Given the description of an element on the screen output the (x, y) to click on. 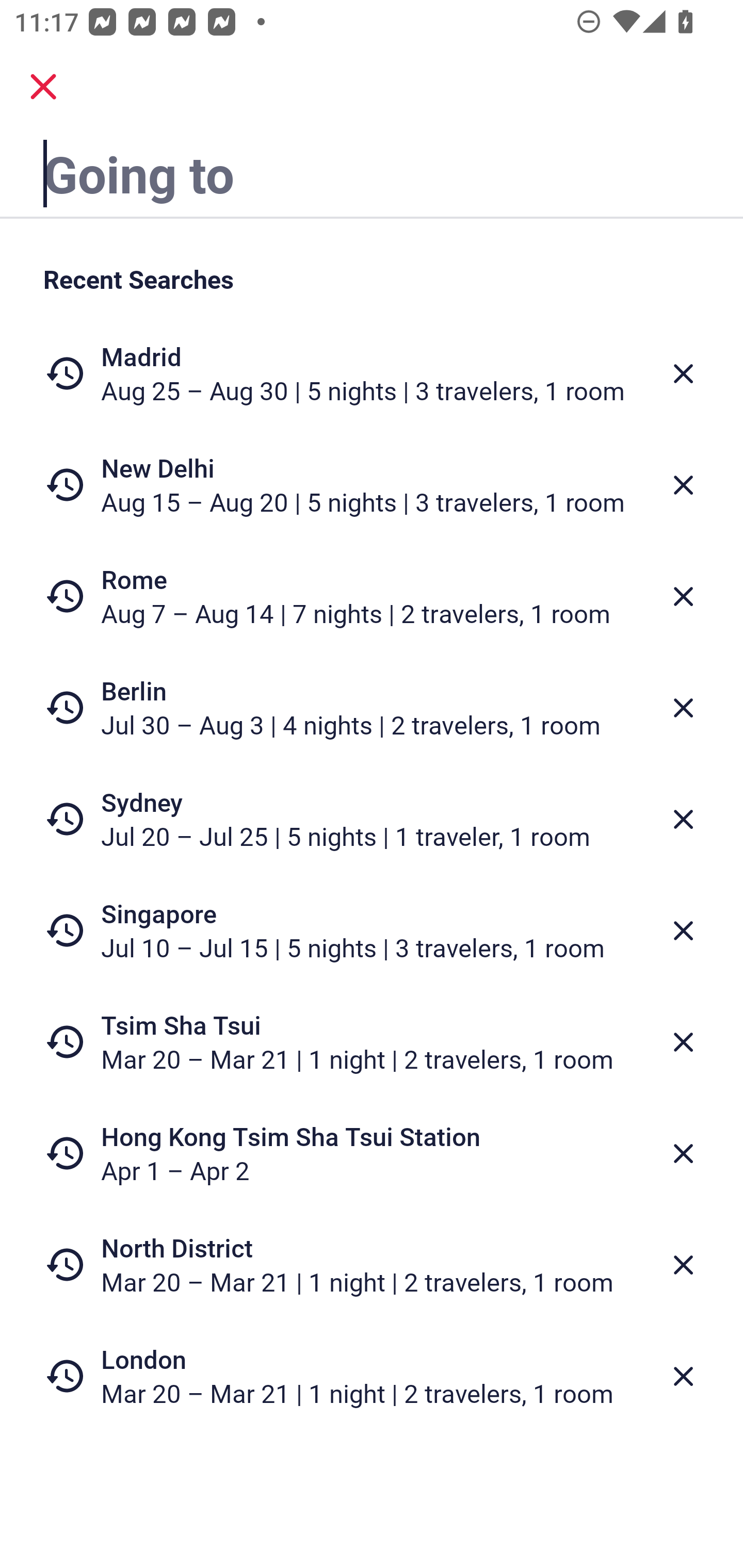
close. (43, 86)
Delete from recent searches (683, 373)
Delete from recent searches (683, 485)
Delete from recent searches (683, 596)
Delete from recent searches (683, 707)
Delete from recent searches (683, 819)
Delete from recent searches (683, 930)
Delete from recent searches (683, 1041)
Hong Kong Tsim Sha Tsui Station Apr 1 – Apr 2 (371, 1152)
Delete from recent searches (683, 1153)
Delete from recent searches (683, 1265)
